Given the description of an element on the screen output the (x, y) to click on. 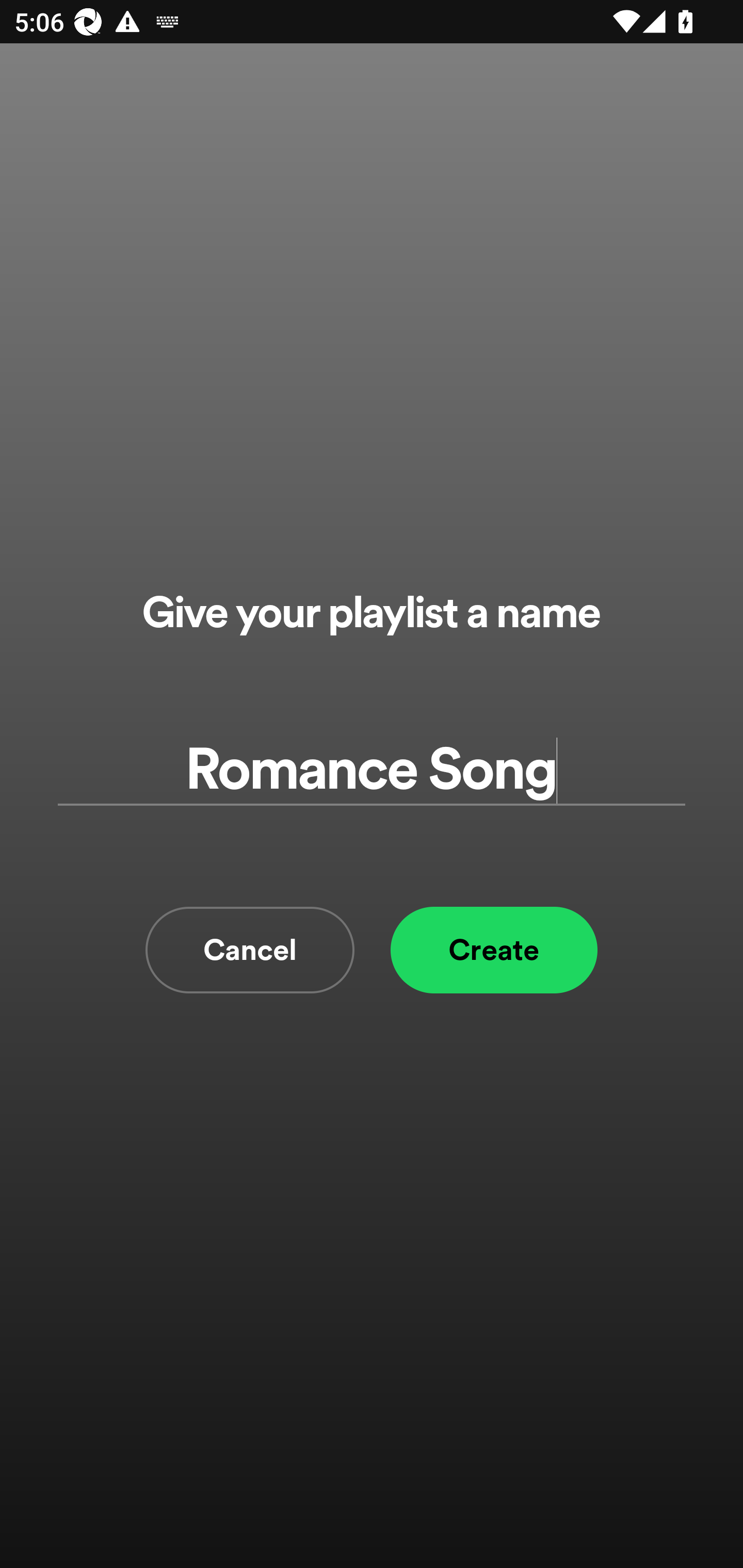
Romance Song Add a playlist name (371, 769)
Cancel (249, 950)
Create (493, 950)
